Given the description of an element on the screen output the (x, y) to click on. 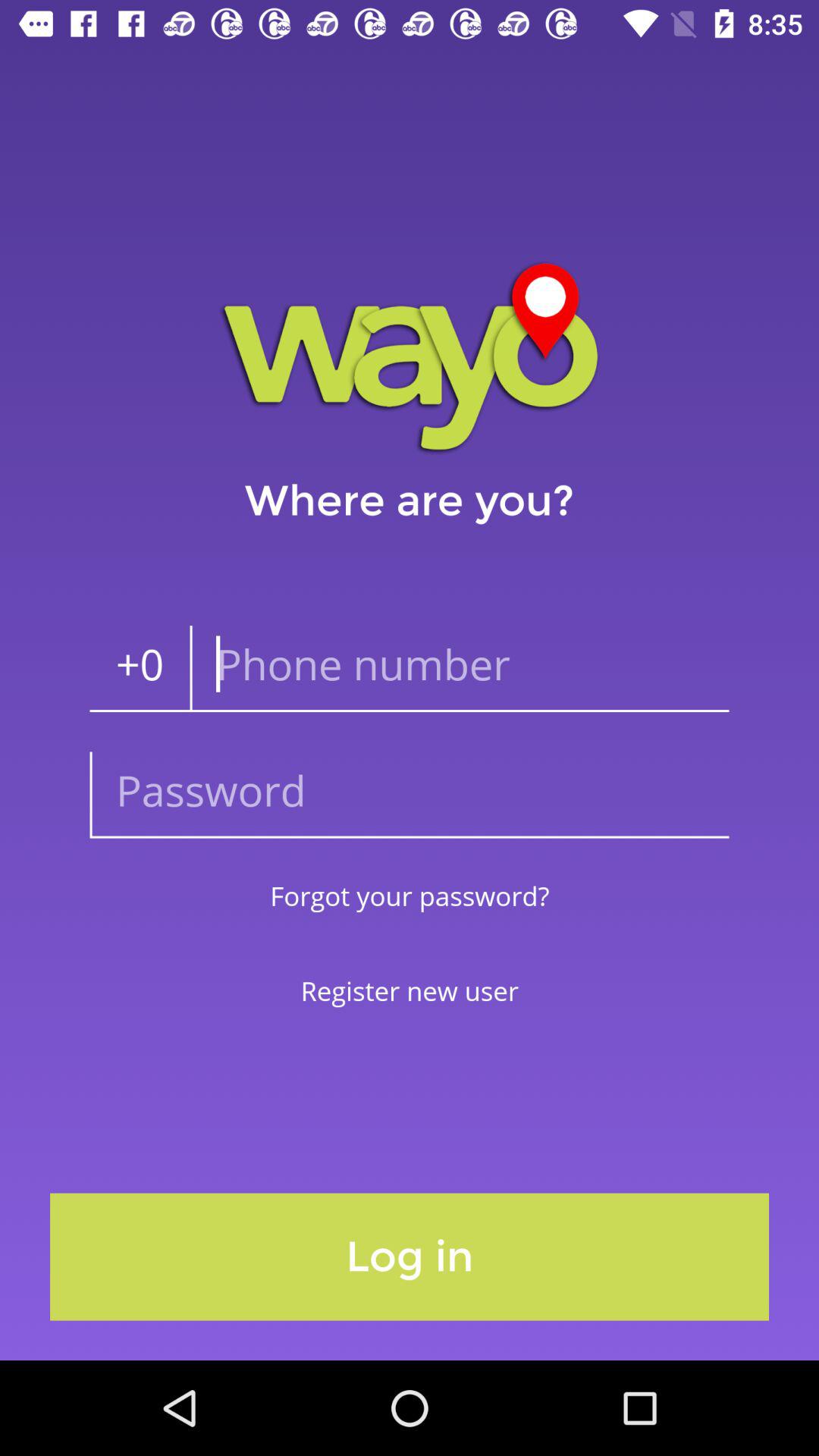
turn on the register new user icon (409, 990)
